Given the description of an element on the screen output the (x, y) to click on. 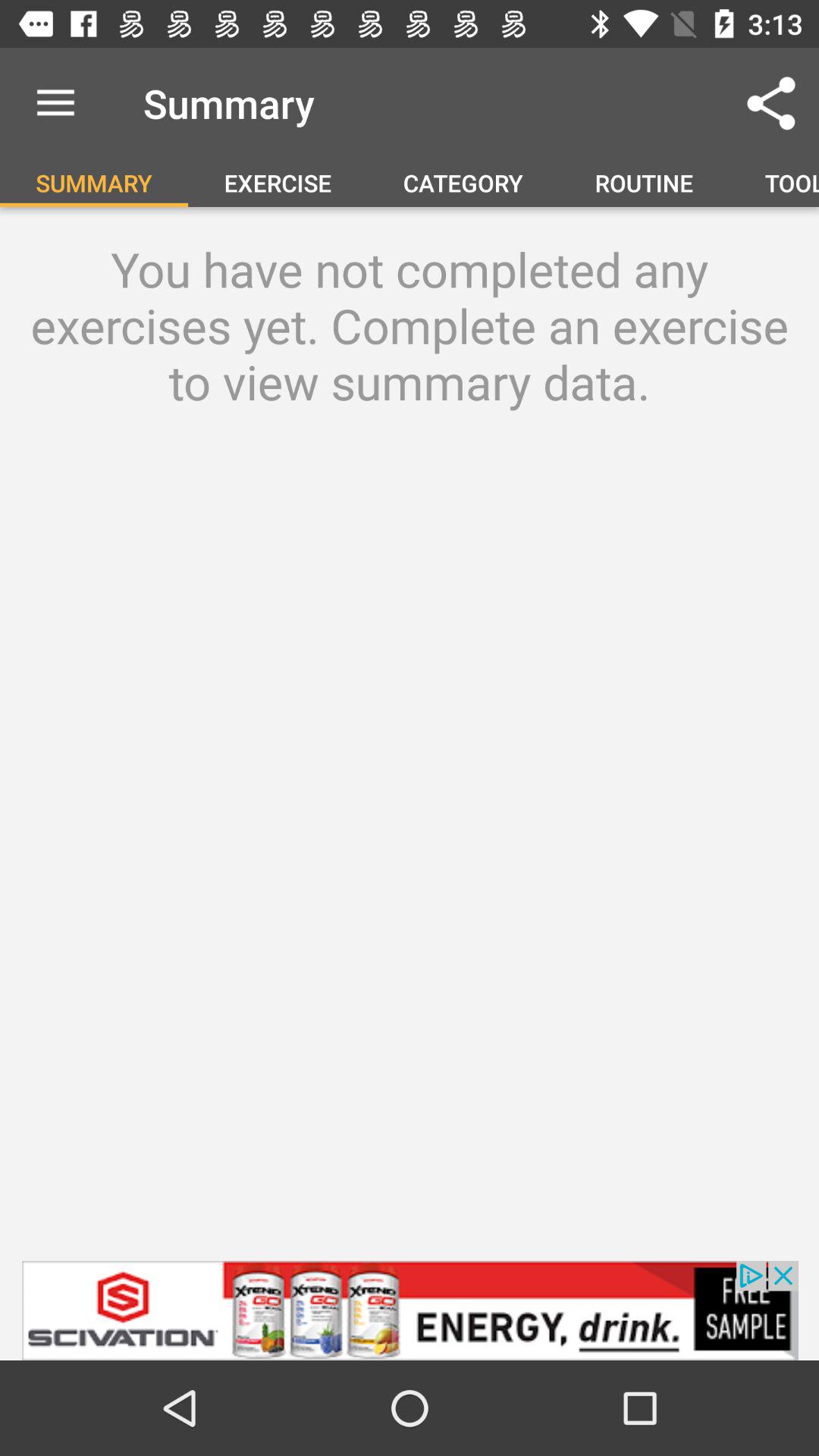
the button is used to advertisement option (409, 1310)
